Given the description of an element on the screen output the (x, y) to click on. 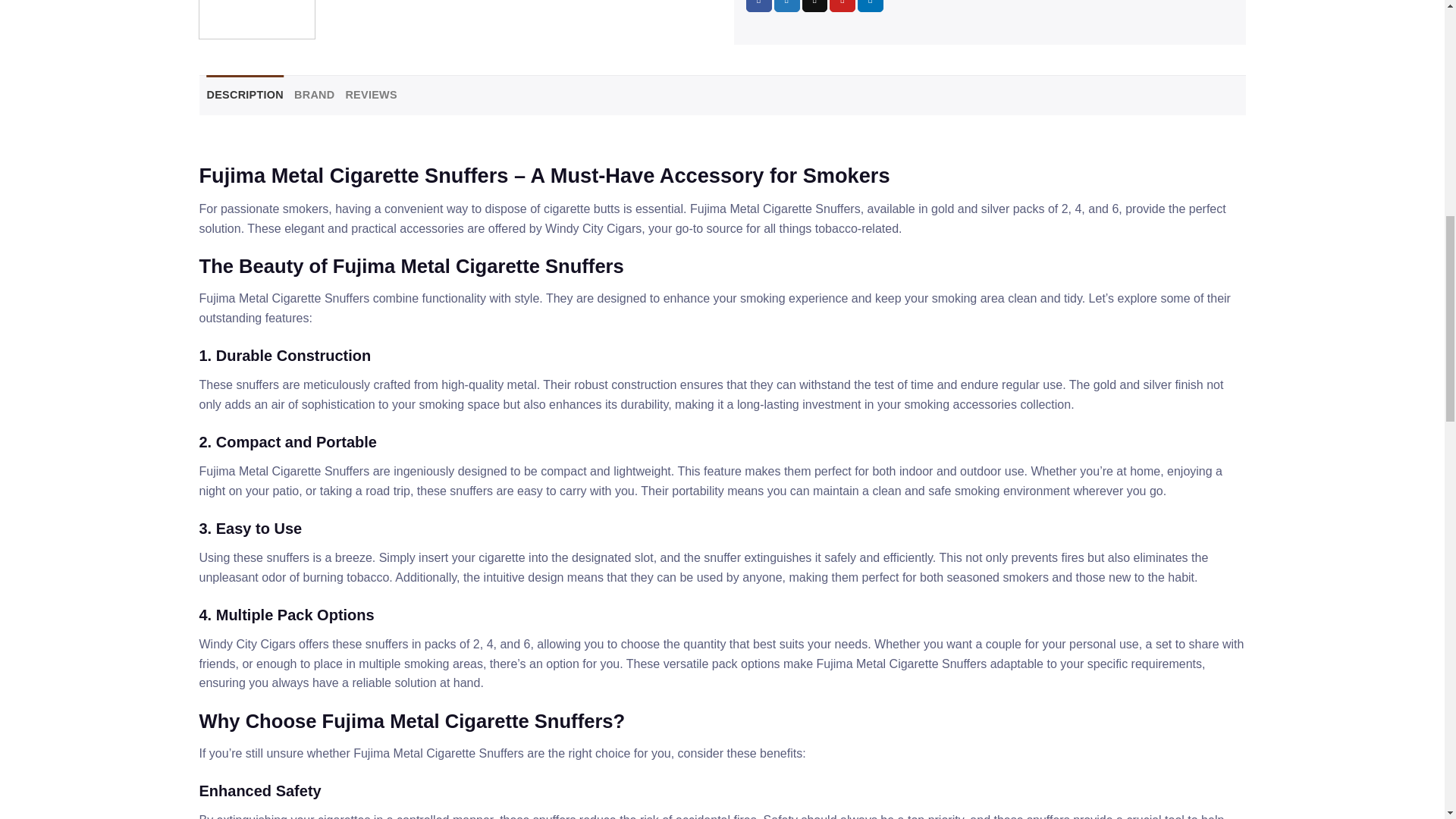
Share on Twitter (786, 6)
Share on LinkedIn (870, 6)
Pin on Pinterest (842, 6)
Share on Facebook (758, 6)
Email to a Friend (815, 6)
